Given the description of an element on the screen output the (x, y) to click on. 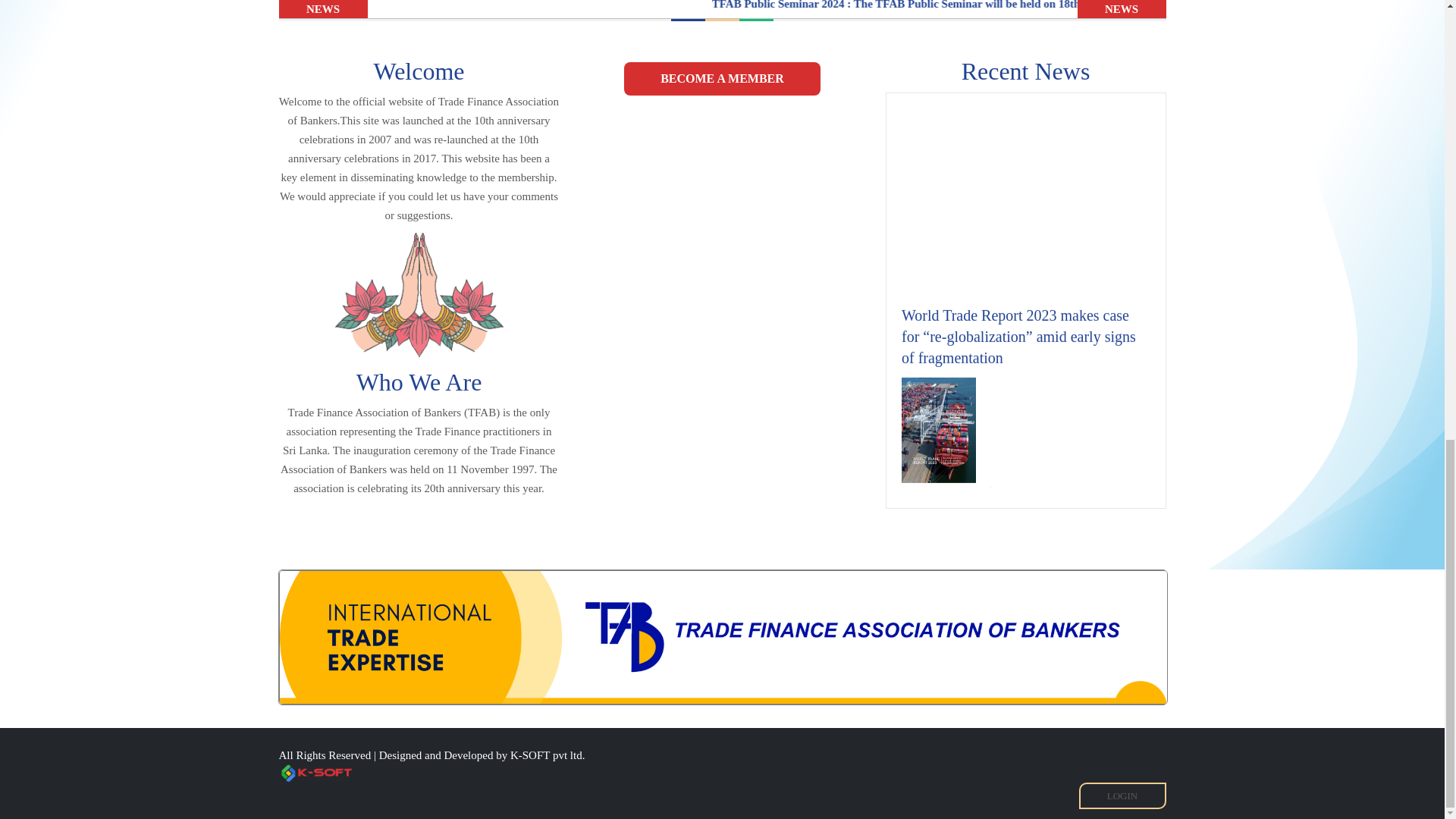
LOGIN (1122, 795)
BECOME A MEMBER (722, 78)
BECOME A MEMBER (722, 78)
